Given the description of an element on the screen output the (x, y) to click on. 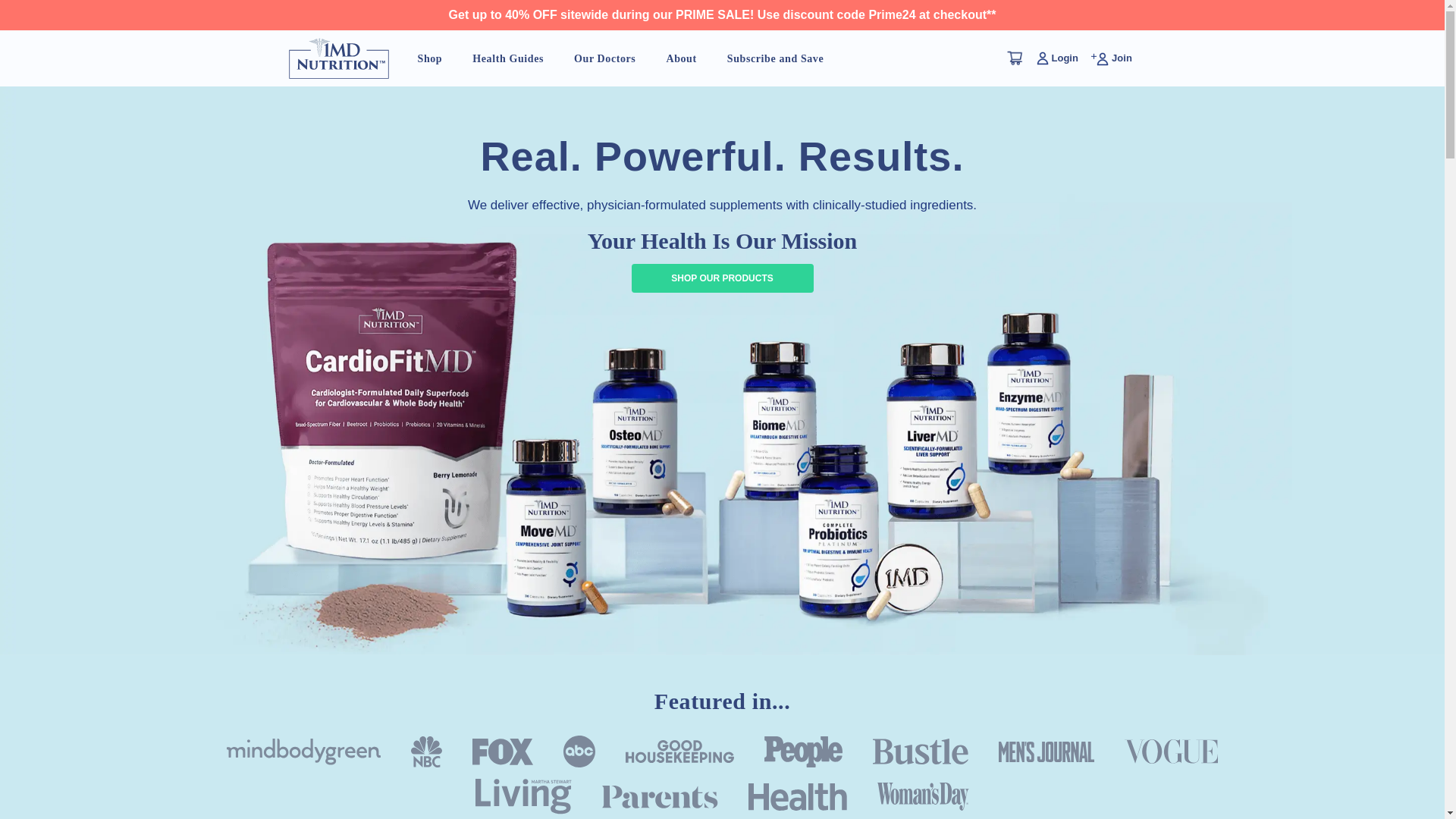
SKIP TO CONTENT (67, 44)
